Given the description of an element on the screen output the (x, y) to click on. 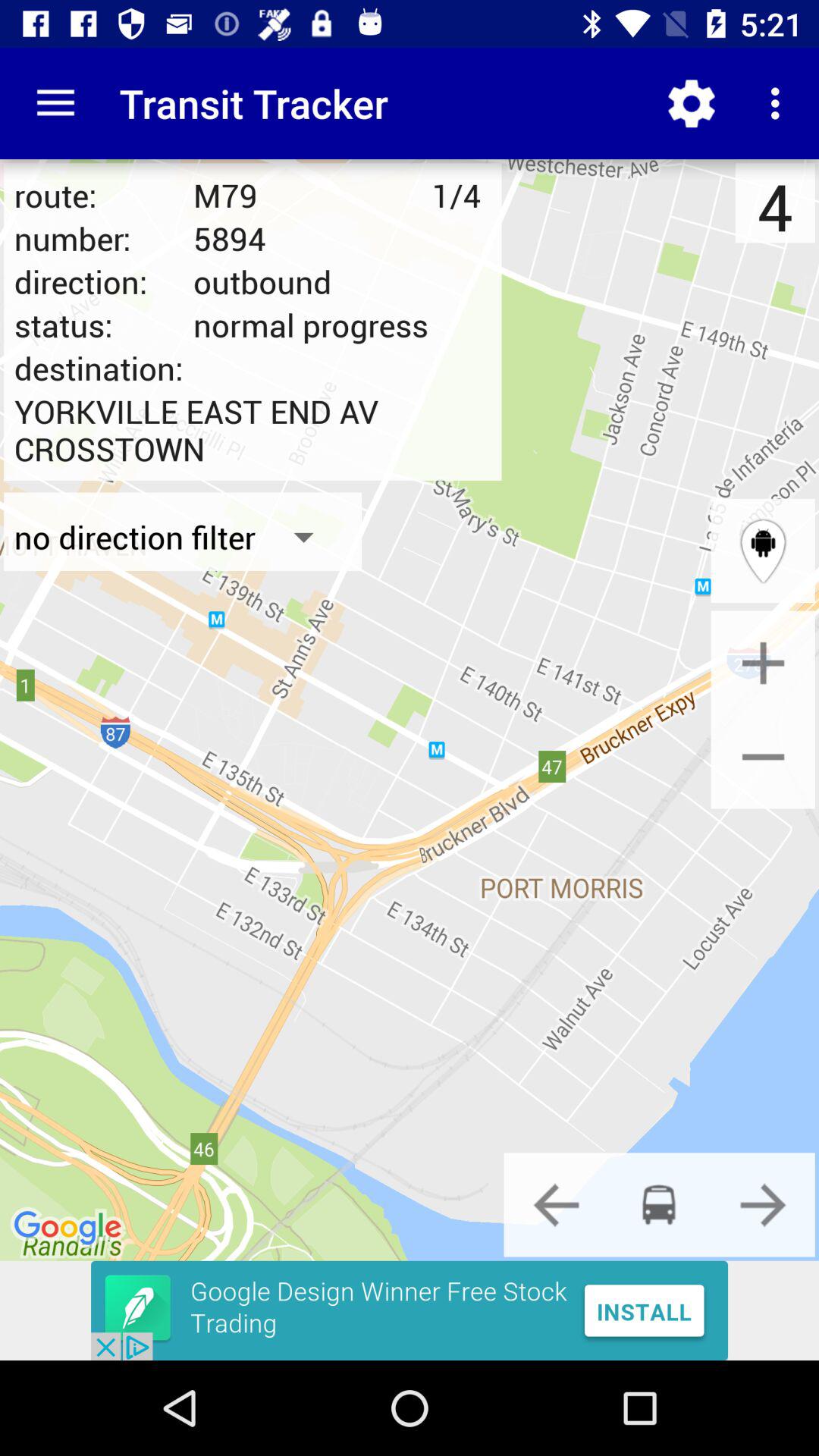
change form of transporttion (555, 1204)
